Given the description of an element on the screen output the (x, y) to click on. 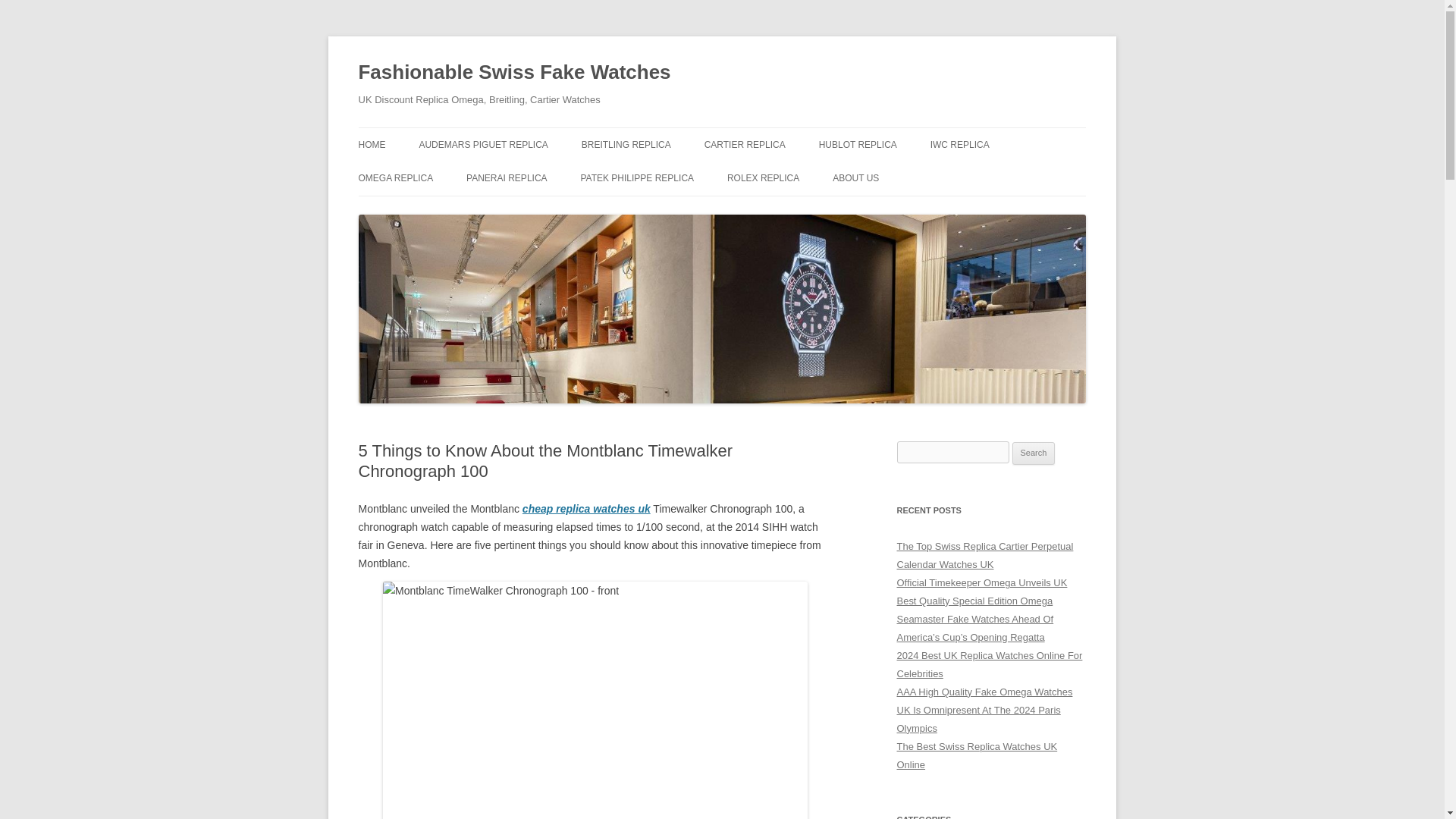
AUDEMARS PIGUET REPLICA (483, 144)
CARTIER BAIGNOIRE REPLICA (780, 176)
ABOUT US (855, 177)
Search (1033, 453)
Fashionable Swiss Fake Watches (513, 72)
ROLEX REPLICA (762, 177)
cheap replica watches uk (586, 508)
PATEK PHILIPPE REPLICA (636, 177)
PANERAI REPLICA (506, 177)
